Given the description of an element on the screen output the (x, y) to click on. 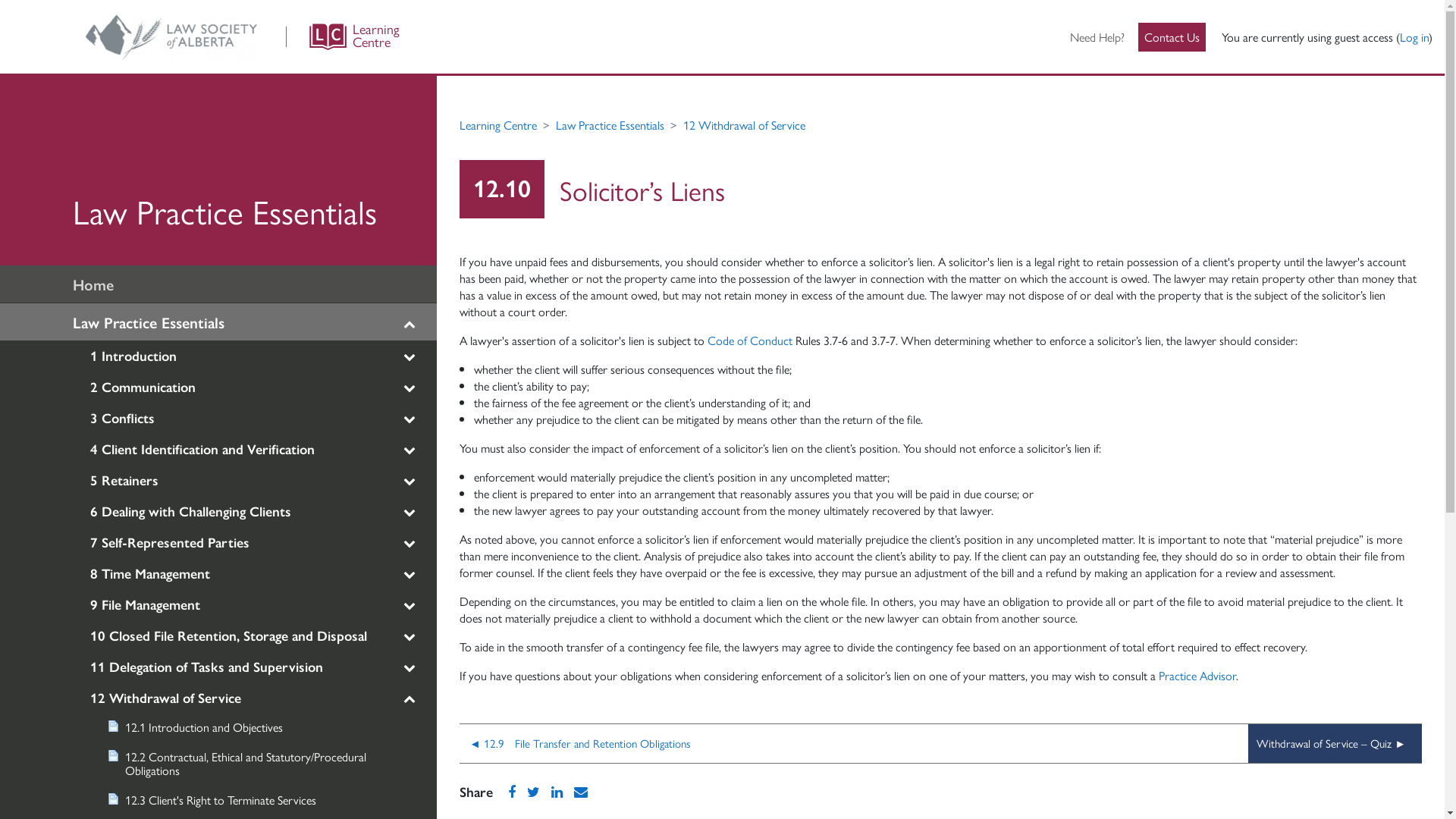
5 Retainers Element type: text (219, 479)
1 Introduction Element type: text (219, 355)
Code of Conduct Element type: text (751, 339)
10 Closed File Retention, Storage and Disposal Element type: text (219, 635)
Learning Centre Element type: text (497, 124)
Practice Advisor Element type: text (1197, 675)
12 Withdrawal of Service Element type: text (219, 697)
12 Withdrawal of Service Element type: text (744, 124)
8 Time Management Element type: text (219, 573)
11 Delegation of Tasks and Supervision Element type: text (219, 666)
Law Practice Essentials Element type: text (609, 124)
4 Client Identification and Verification Element type: text (219, 448)
Log in Element type: text (1413, 35)
2 Communication Element type: text (219, 386)
Home Element type: text (218, 283)
Law Practice Essentials Element type: text (218, 170)
3 Conflicts Element type: text (219, 417)
7 Self-Represented Parties Element type: text (219, 542)
6 Dealing with Challenging Clients Element type: text (219, 510)
9 File Management Element type: text (219, 604)
Contact Us Element type: text (1171, 36)
Need Help? Element type: text (1096, 36)
Law Practice Essentials Element type: text (218, 321)
 Learning Centre Element type: text (187, 36)
12.1 Introduction and Objectives Element type: text (220, 726)
12.3 Client's Right to Terminate Services Element type: text (220, 799)
